Given the description of an element on the screen output the (x, y) to click on. 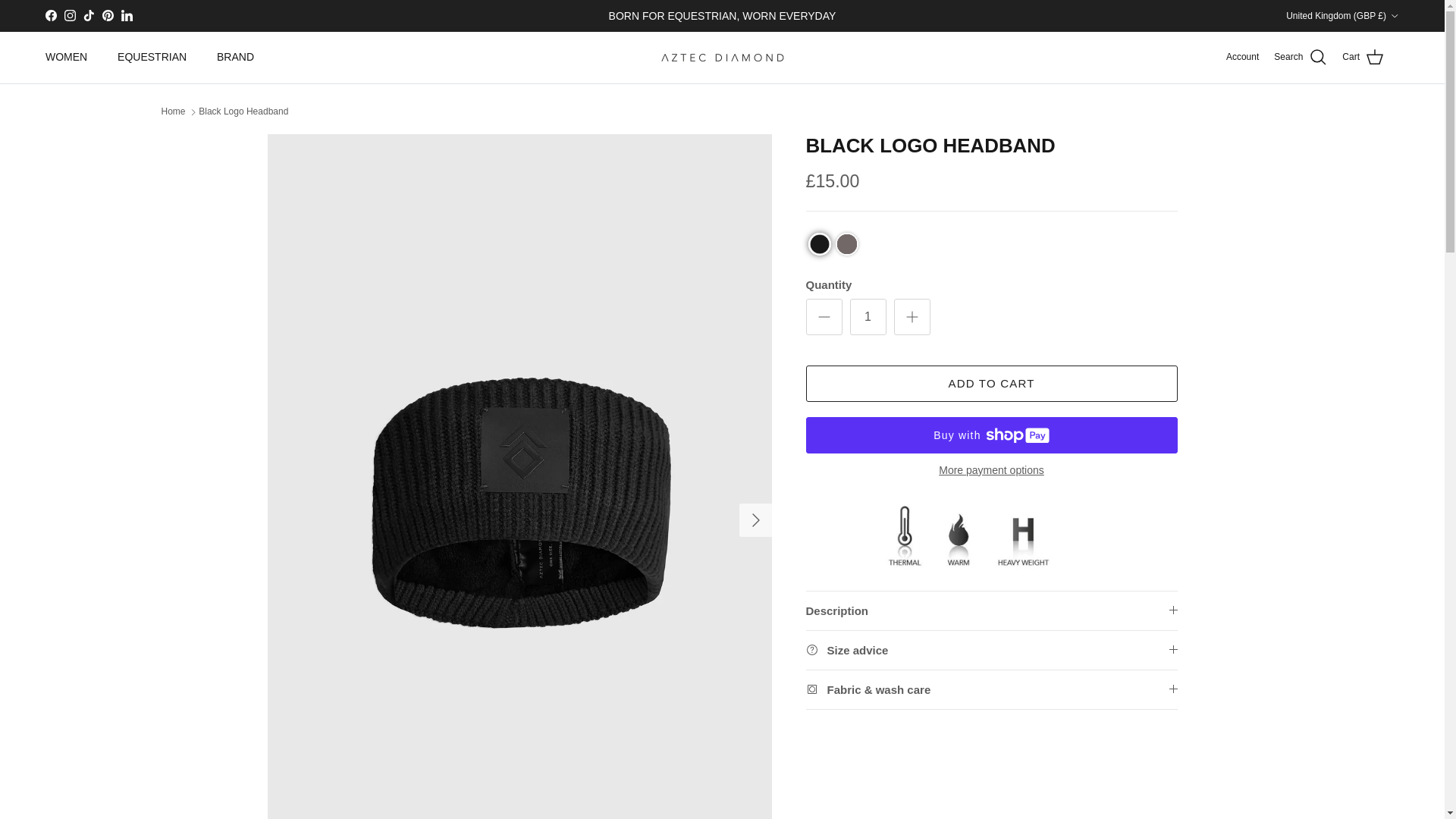
Aztec Diamond on Pinterest (107, 15)
Cart (1363, 57)
Facebook (50, 15)
Aztec Diamond (721, 56)
TikTok (88, 15)
EQUESTRIAN (151, 56)
BRAND (235, 56)
WOMEN (66, 56)
Instagram (69, 15)
Aztec Diamond on TikTok (88, 15)
LinkedIn (126, 15)
Aztec Diamond on LinkedIn (126, 15)
Pinterest (107, 15)
Aztec Diamond on Facebook (50, 15)
1 (866, 316)
